Given the description of an element on the screen output the (x, y) to click on. 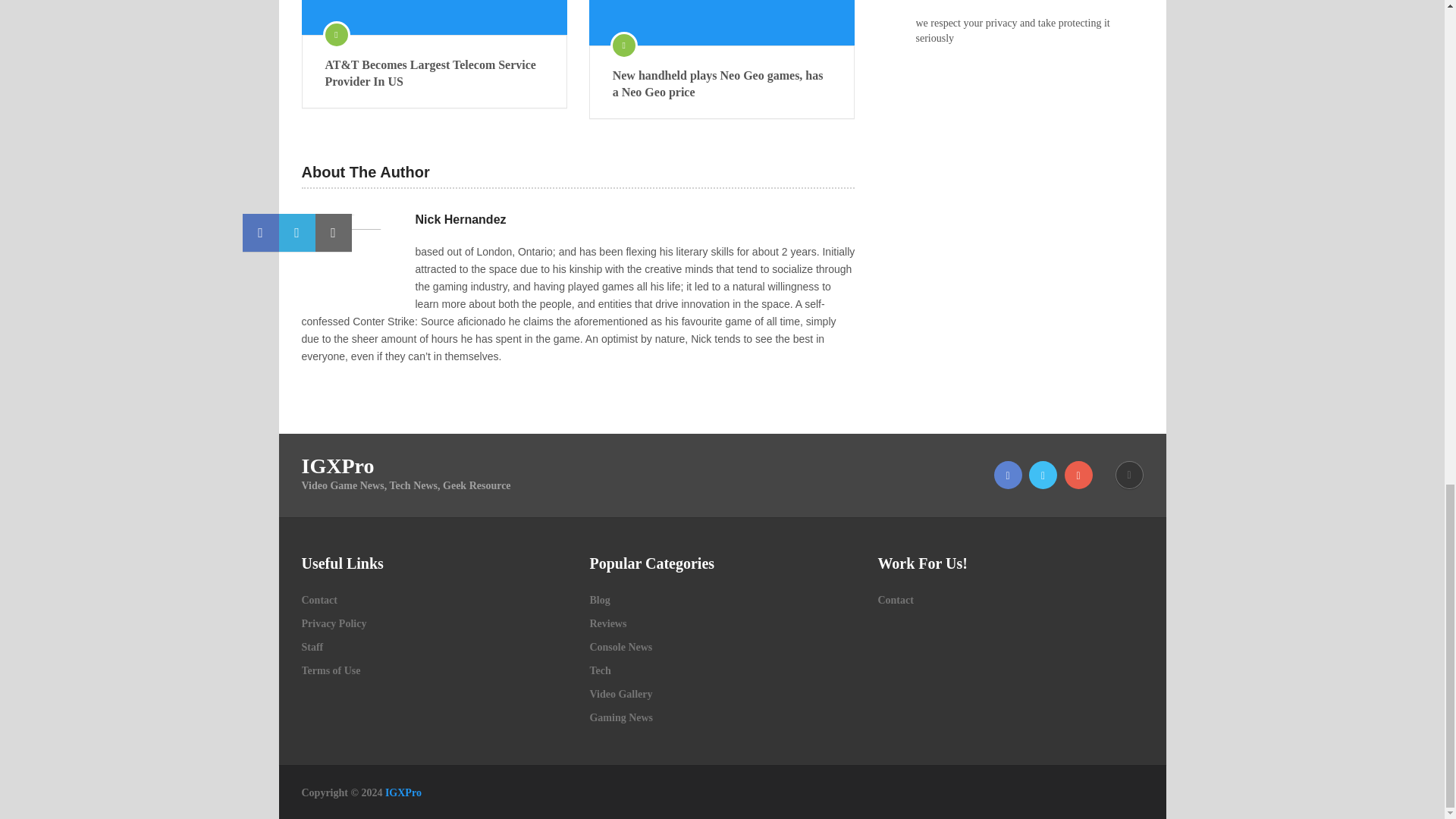
 Video Game News, Tech News, Geek Resource (403, 792)
New handheld plays Neo Geo games, has a Neo Geo price (721, 22)
New handheld plays Neo Geo games, has a Neo Geo price (721, 84)
